Given the description of an element on the screen output the (x, y) to click on. 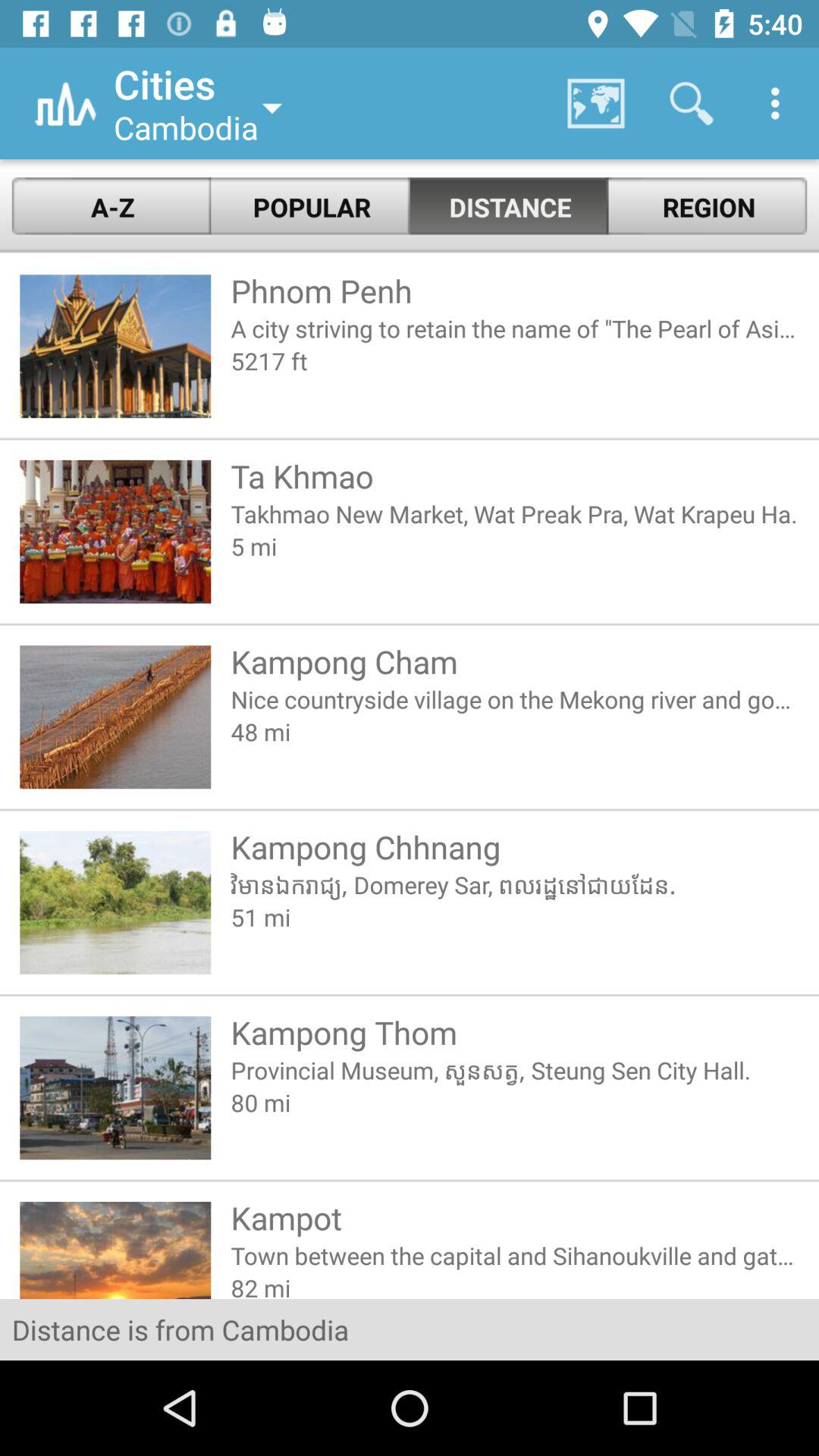
select the icon next to search icon (779, 103)
click on the button which is to the left side of the region (509, 206)
